Given the description of an element on the screen output the (x, y) to click on. 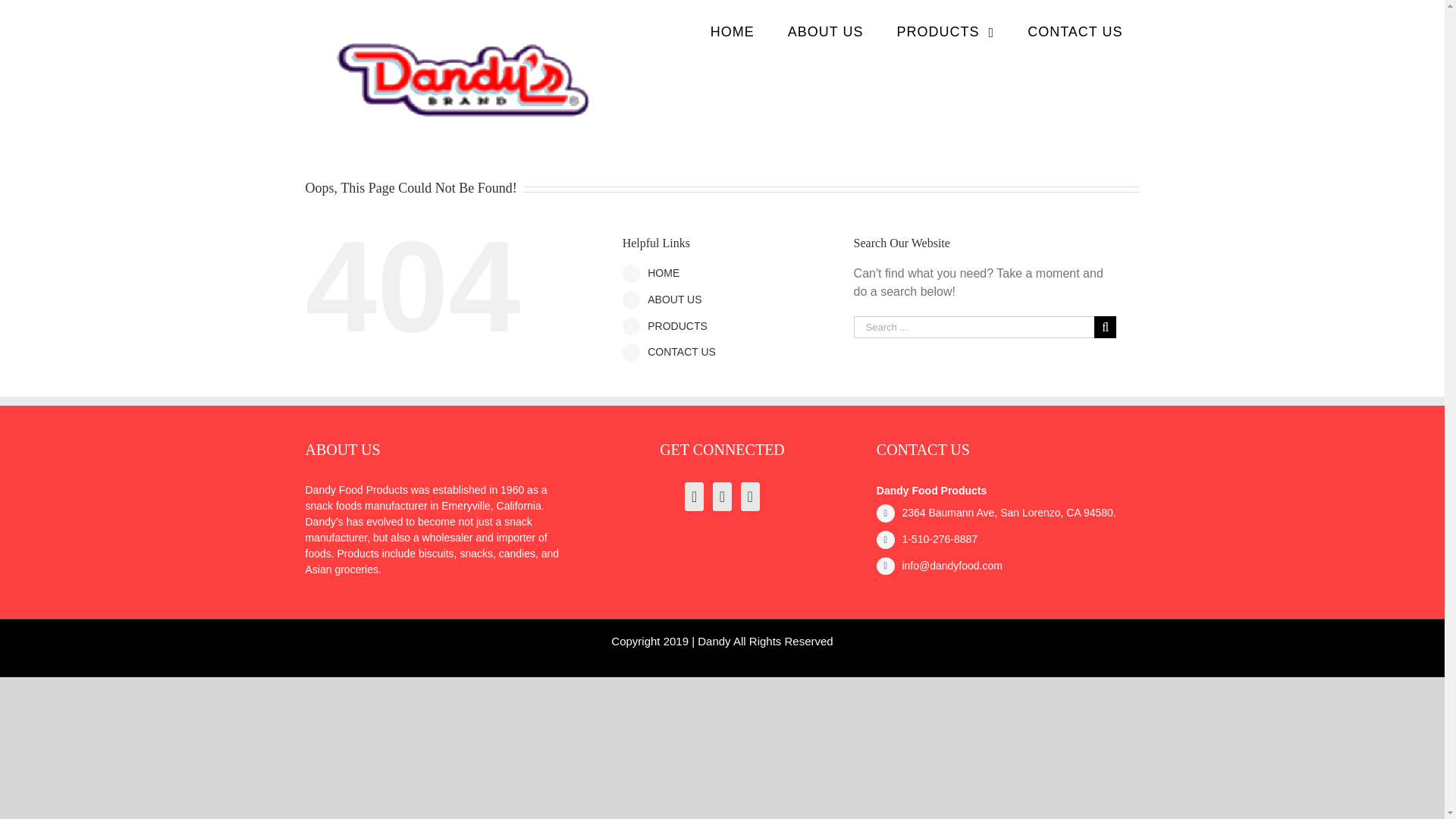
CONTACT US (681, 351)
HOME (732, 31)
PRODUCTS (945, 31)
PRODUCTS (677, 326)
ABOUT US (674, 299)
CONTACT US (1074, 31)
ABOUT US (825, 31)
HOME (663, 272)
